Given the description of an element on the screen output the (x, y) to click on. 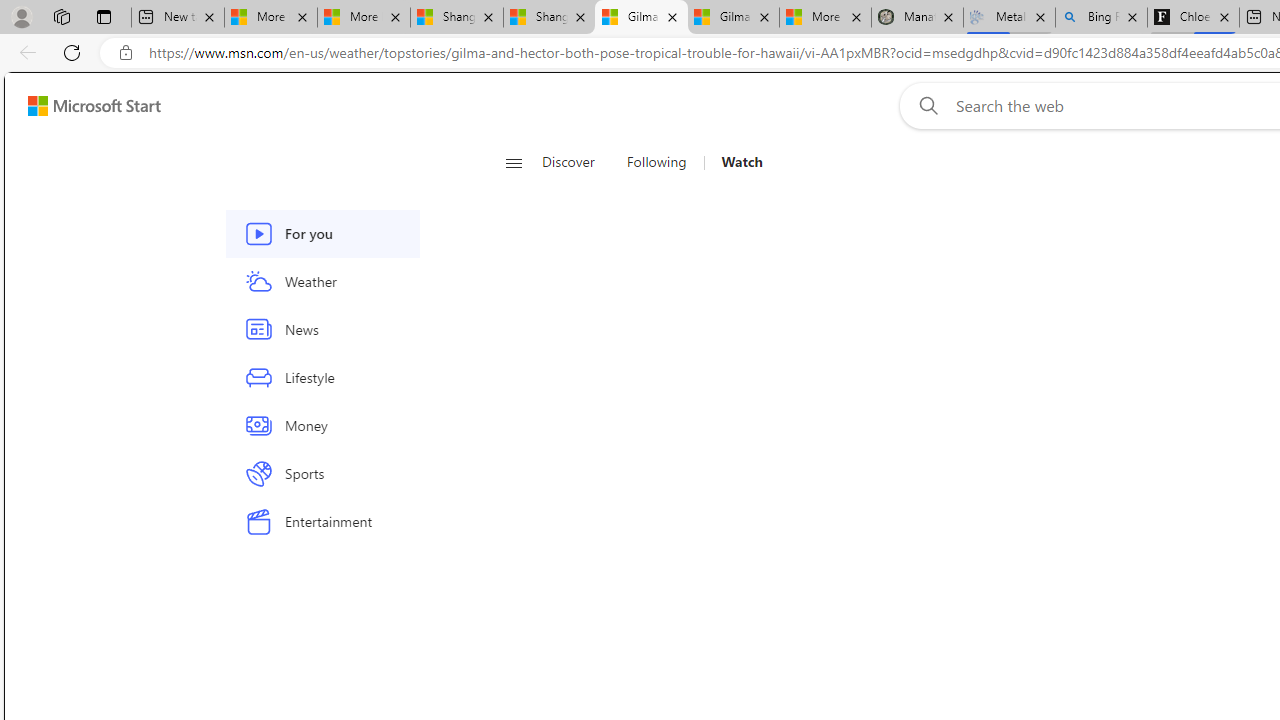
Watch (742, 162)
Gilma and Hector both pose tropical trouble for Hawaii (733, 17)
Bing Real Estate - Home sales and rental listings (1101, 17)
Web search (924, 105)
Skip to footer (82, 105)
Manatee Mortality Statistics | FWC (916, 17)
Class: button-glyph (513, 162)
